Given the description of an element on the screen output the (x, y) to click on. 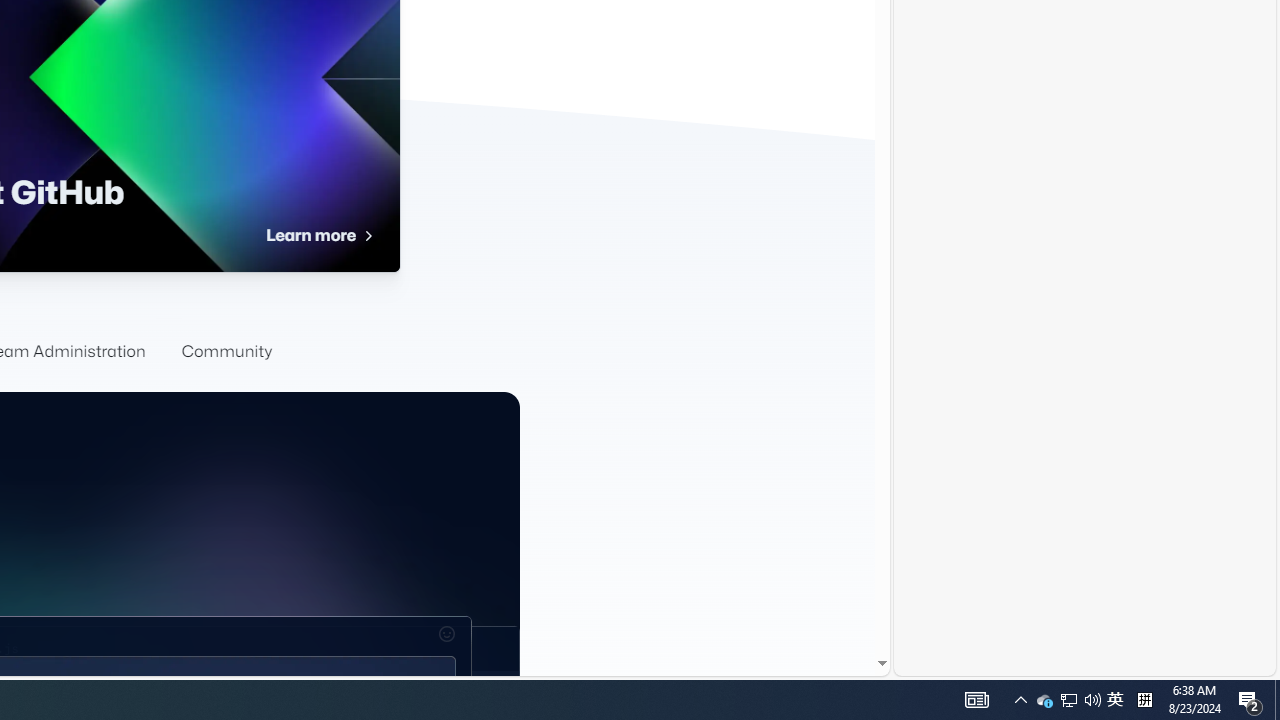
Class: octicon arrow-symbol-mktg octicon (367, 236)
Community (226, 351)
